Given the description of an element on the screen output the (x, y) to click on. 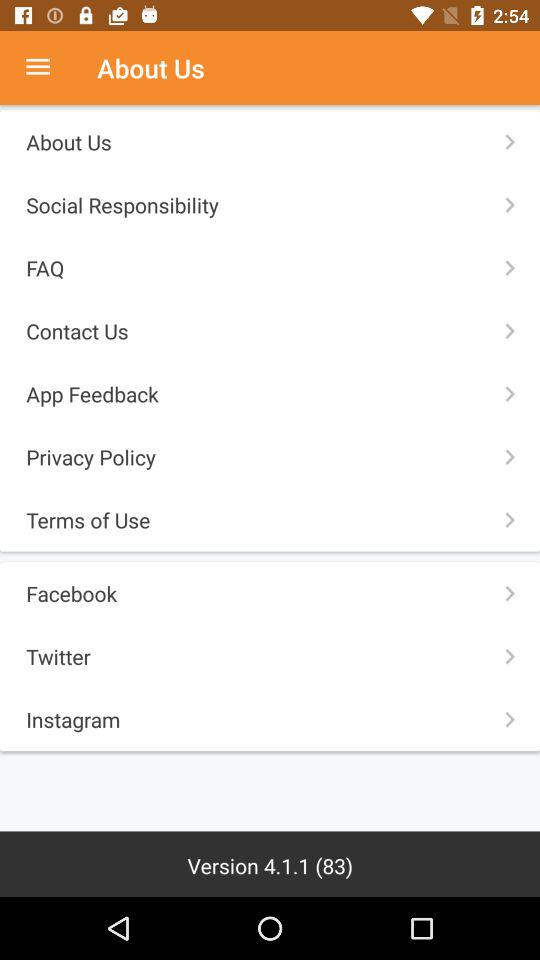
see menu (48, 67)
